Given the description of an element on the screen output the (x, y) to click on. 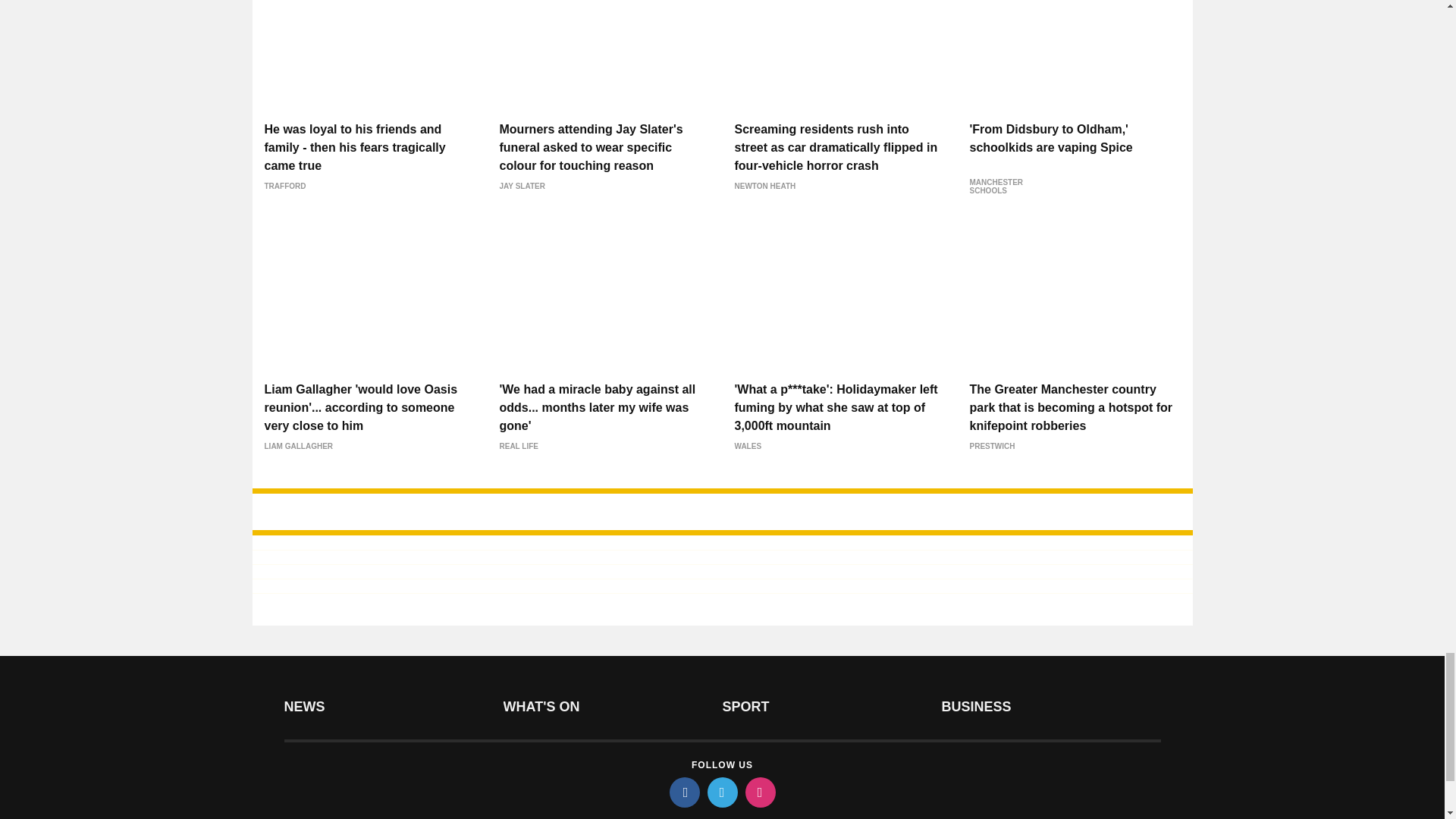
twitter (721, 792)
instagram (759, 792)
facebook (683, 792)
